Given the description of an element on the screen output the (x, y) to click on. 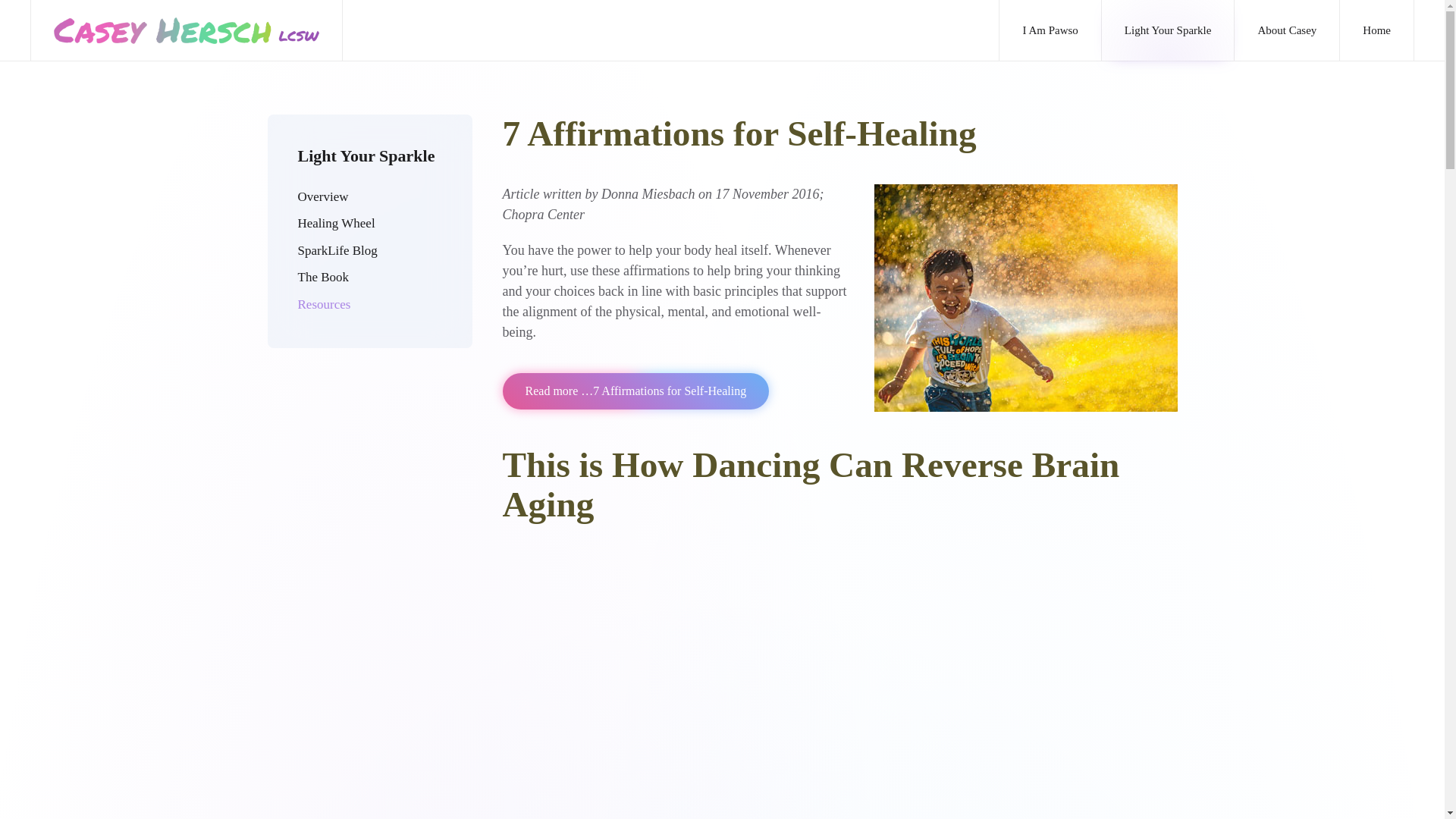
I Am Pawso (1049, 30)
Light Your Sparkle (1168, 30)
